Given the description of an element on the screen output the (x, y) to click on. 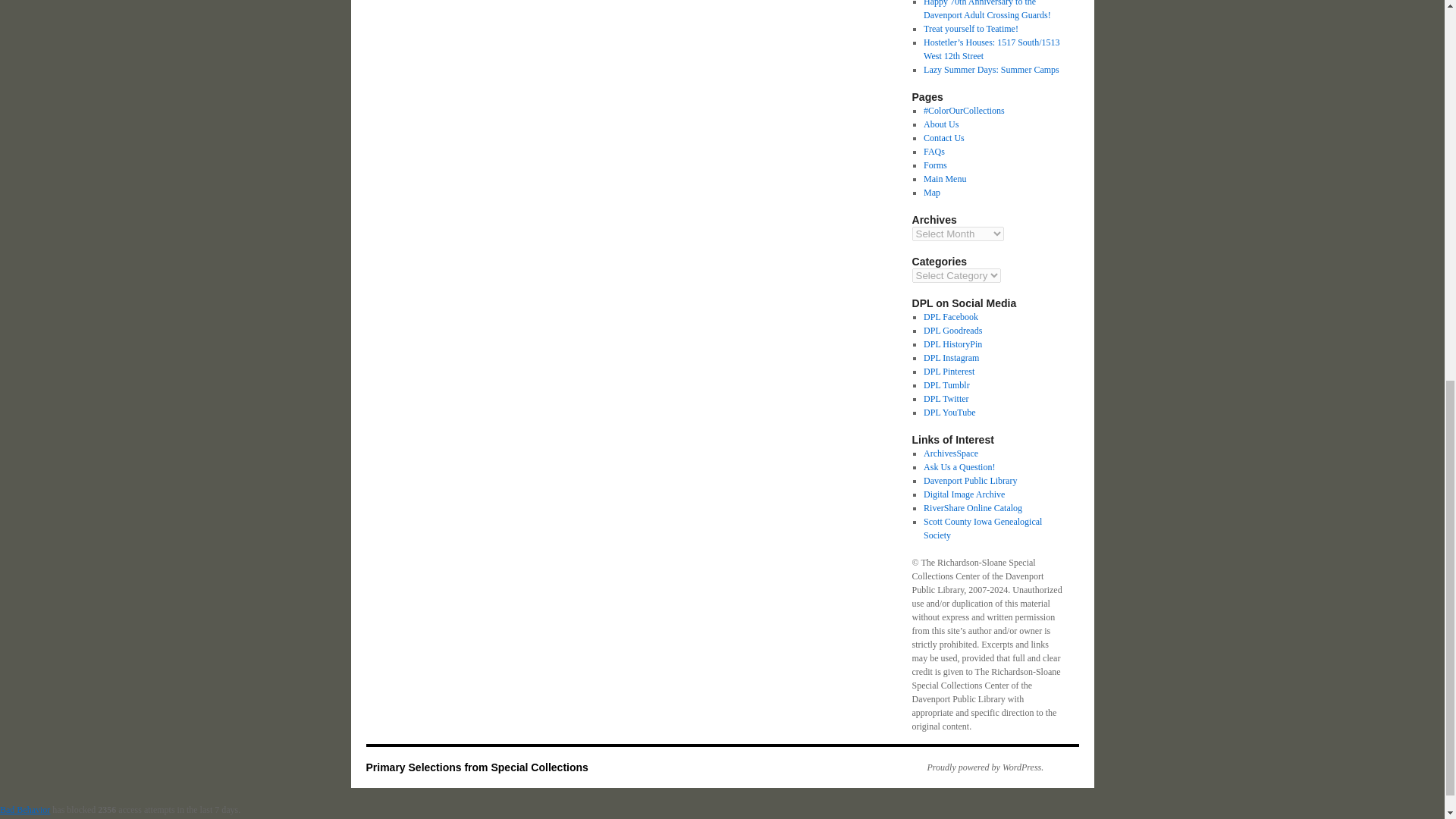
Special Collections board (948, 371)
Semantic Personal Publishing Platform (977, 767)
SC Playlist on DPL YouTube (949, 412)
Our Online Catalog (972, 507)
Our Research Request Form (958, 466)
Search across our collections, digital materials, and more. (950, 452)
Upper Mississippi Digital Image Archive (963, 493)
